Given the description of an element on the screen output the (x, y) to click on. 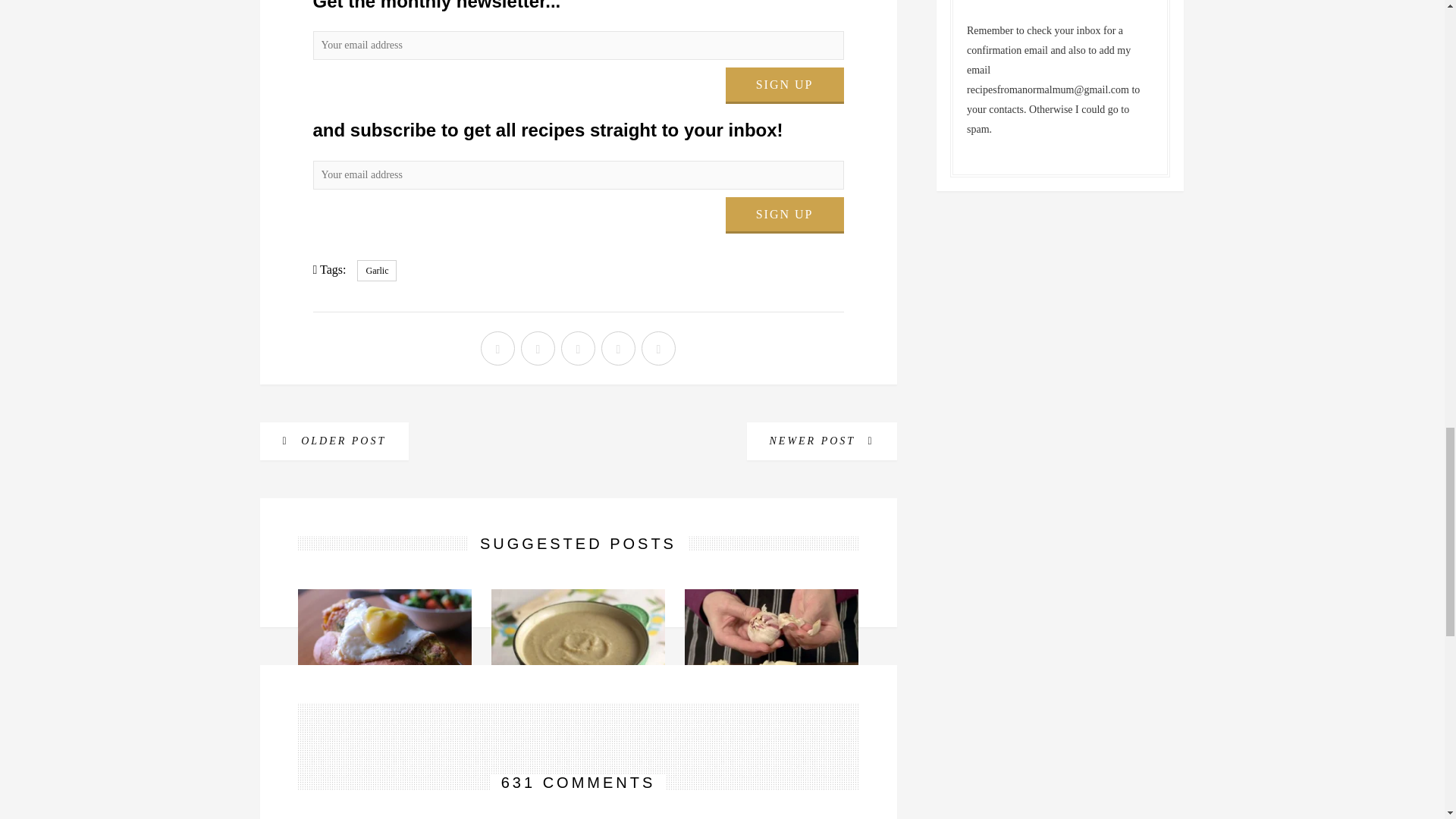
Sign Up (784, 85)
Sign Up (784, 215)
Maakouda (384, 725)
